Given the description of an element on the screen output the (x, y) to click on. 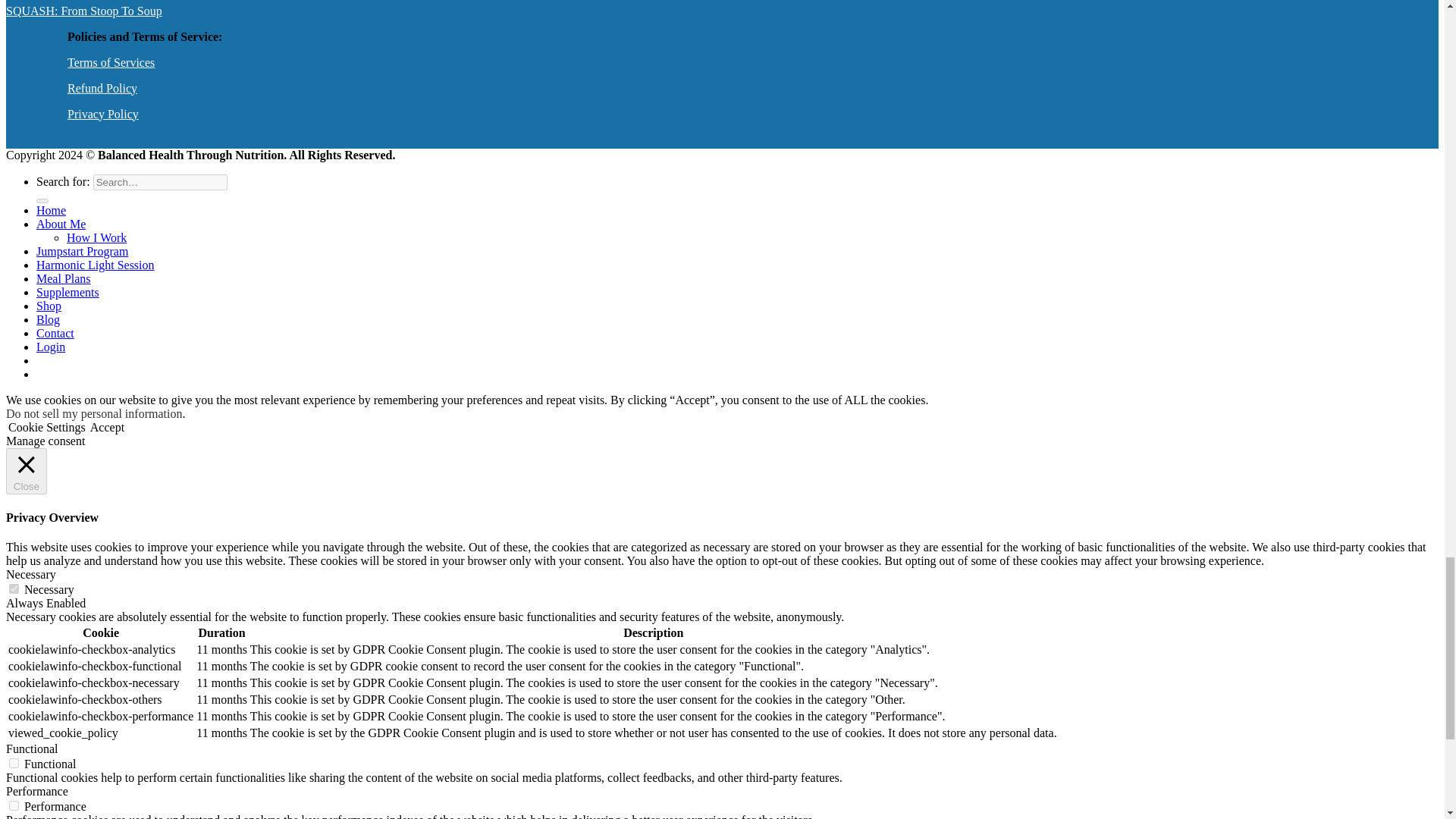
on (13, 588)
on (13, 763)
on (13, 805)
